Given the description of an element on the screen output the (x, y) to click on. 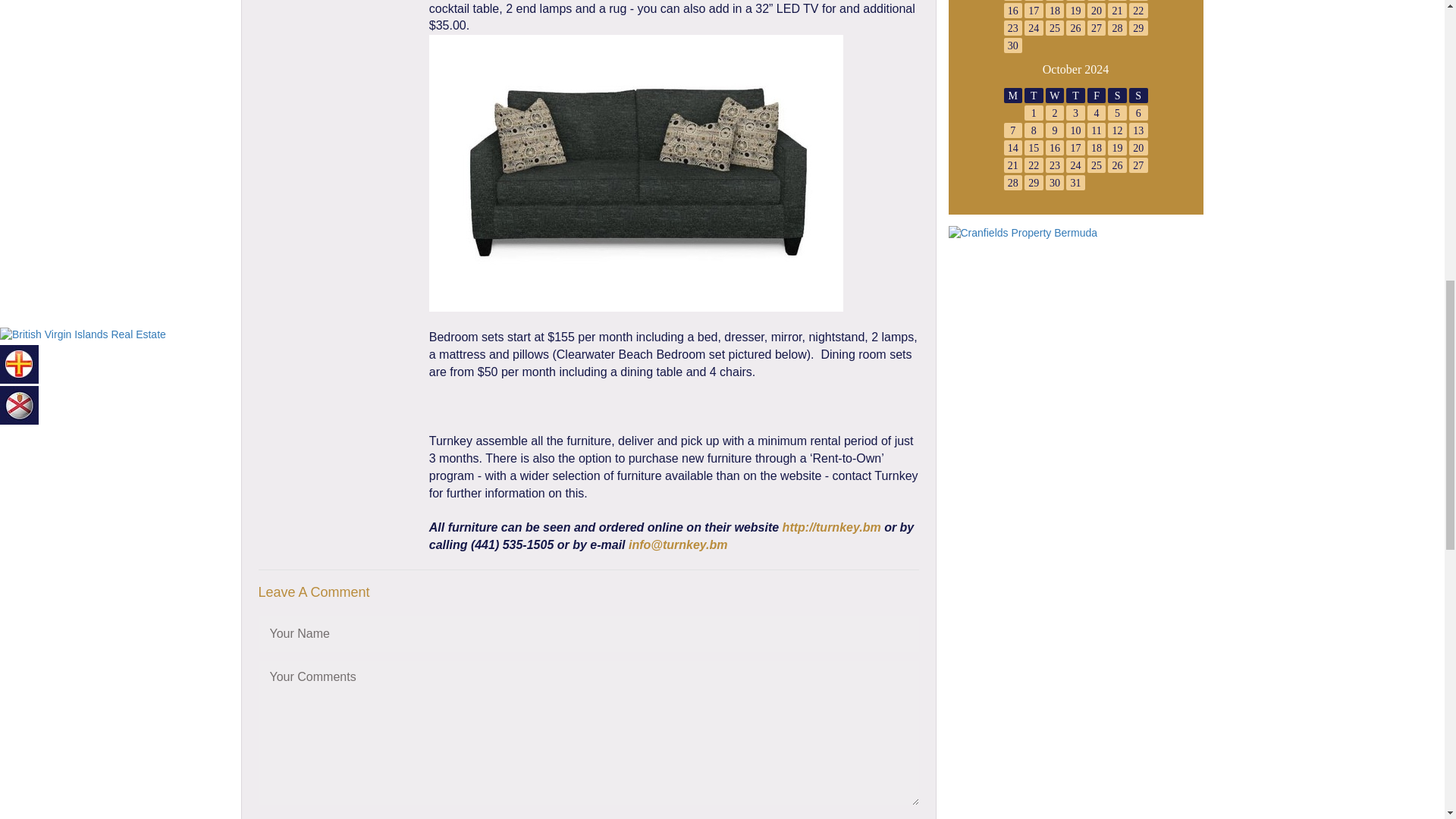
Your Name (587, 633)
